Given the description of an element on the screen output the (x, y) to click on. 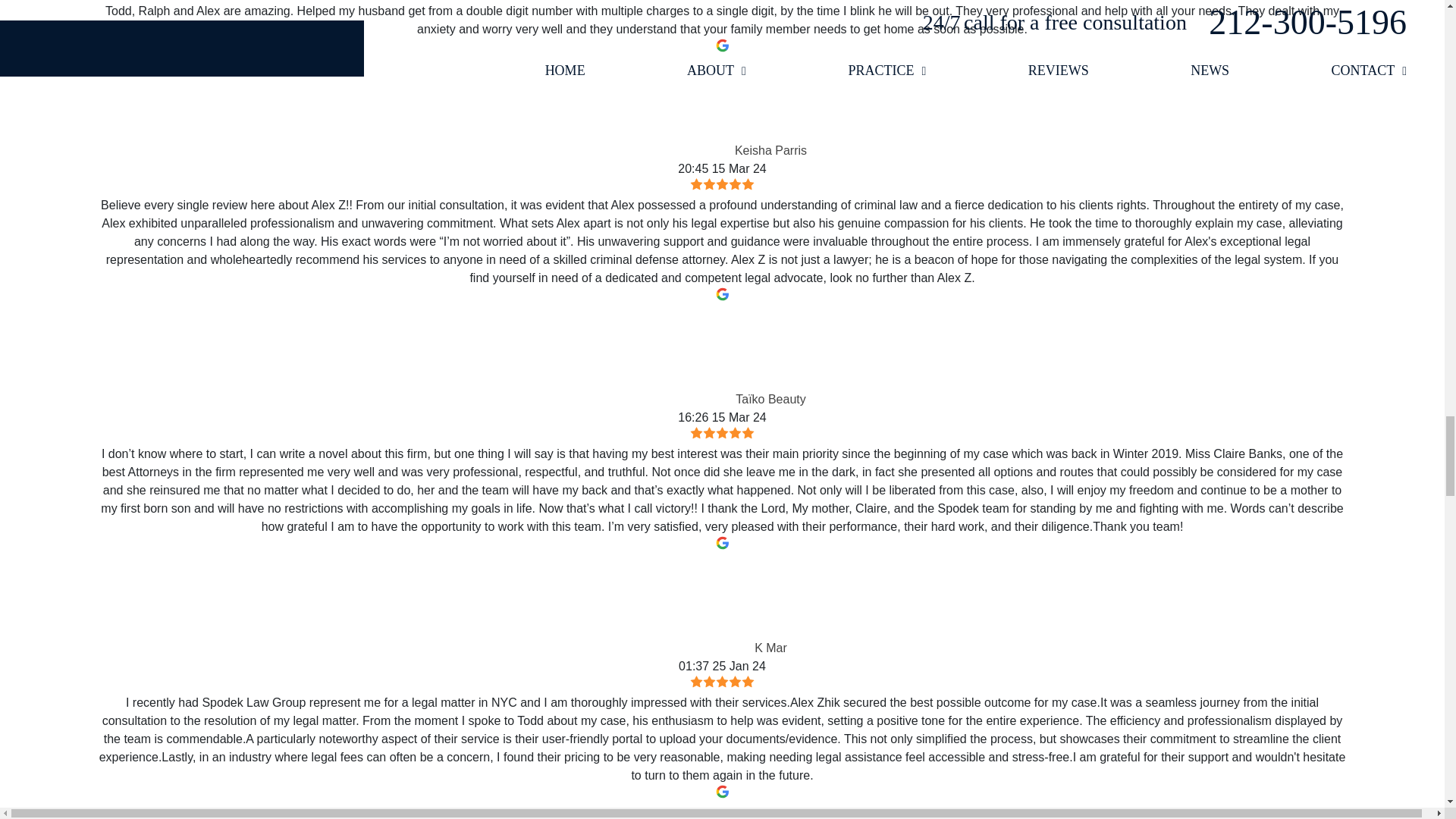
Keisha Parris (686, 105)
K Mar (706, 603)
